Given the description of an element on the screen output the (x, y) to click on. 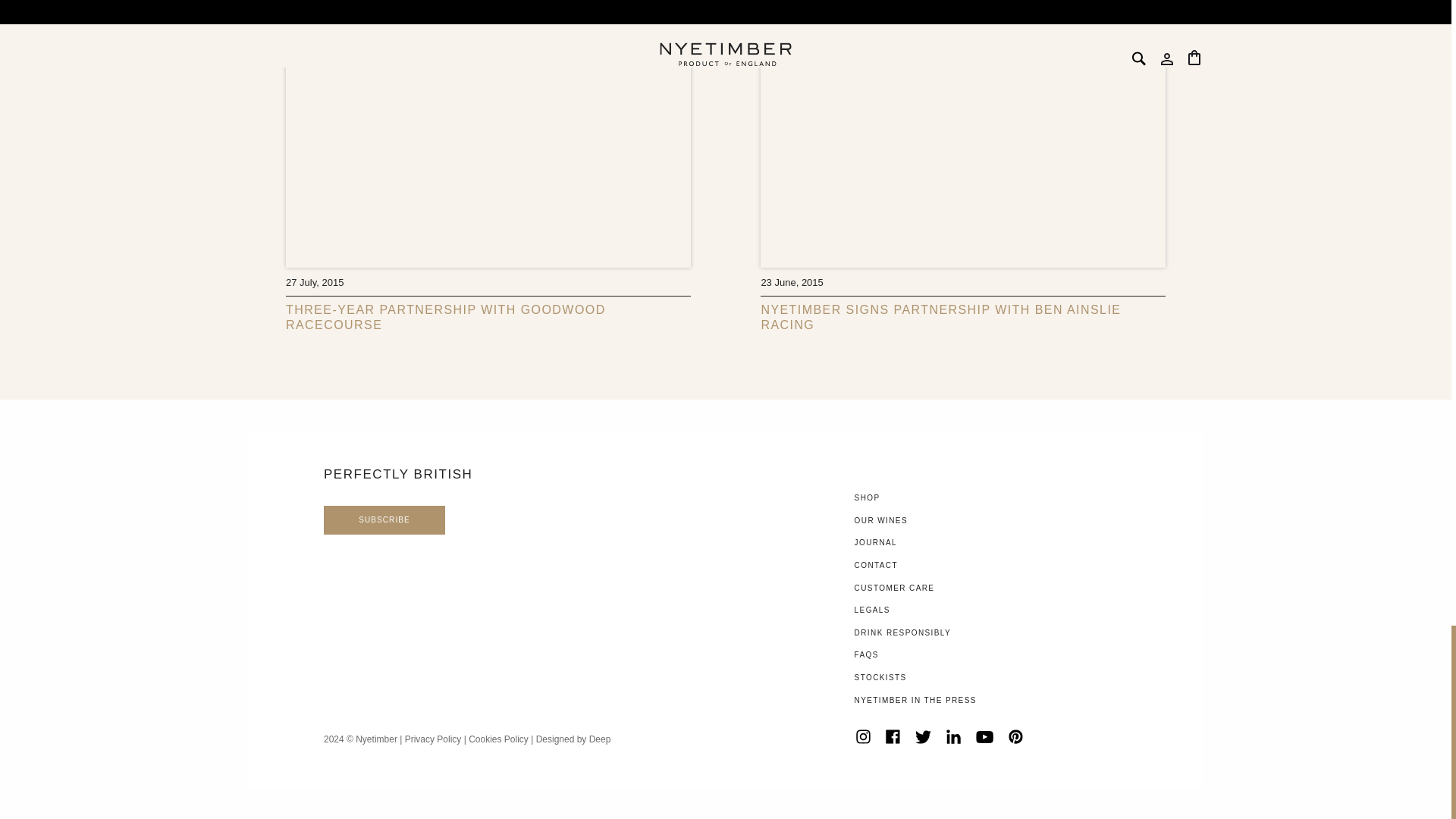
CUSTOMER CARE (894, 587)
DRINK RESPONSIBLY (903, 632)
OUR WINES (880, 520)
JOURNAL (875, 542)
SUBSCRIBE (384, 520)
SHOP (867, 497)
LEGALS (871, 610)
CONTACT (876, 565)
